Given the description of an element on the screen output the (x, y) to click on. 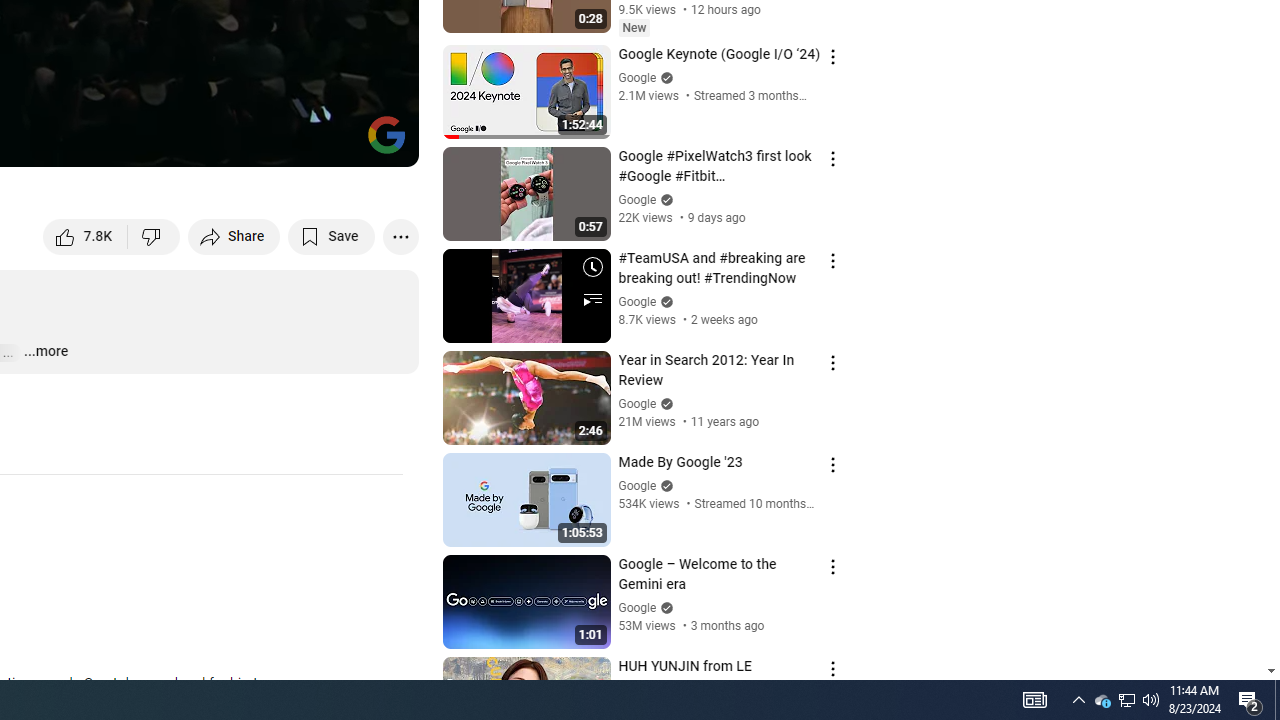
Share (234, 236)
Subtitles/closed captions unavailable (190, 142)
Verified (664, 606)
Channel watermark (386, 134)
Settings (237, 142)
Miniplayer (i) (286, 142)
Theater mode (t) (333, 142)
More actions (399, 236)
